Given the description of an element on the screen output the (x, y) to click on. 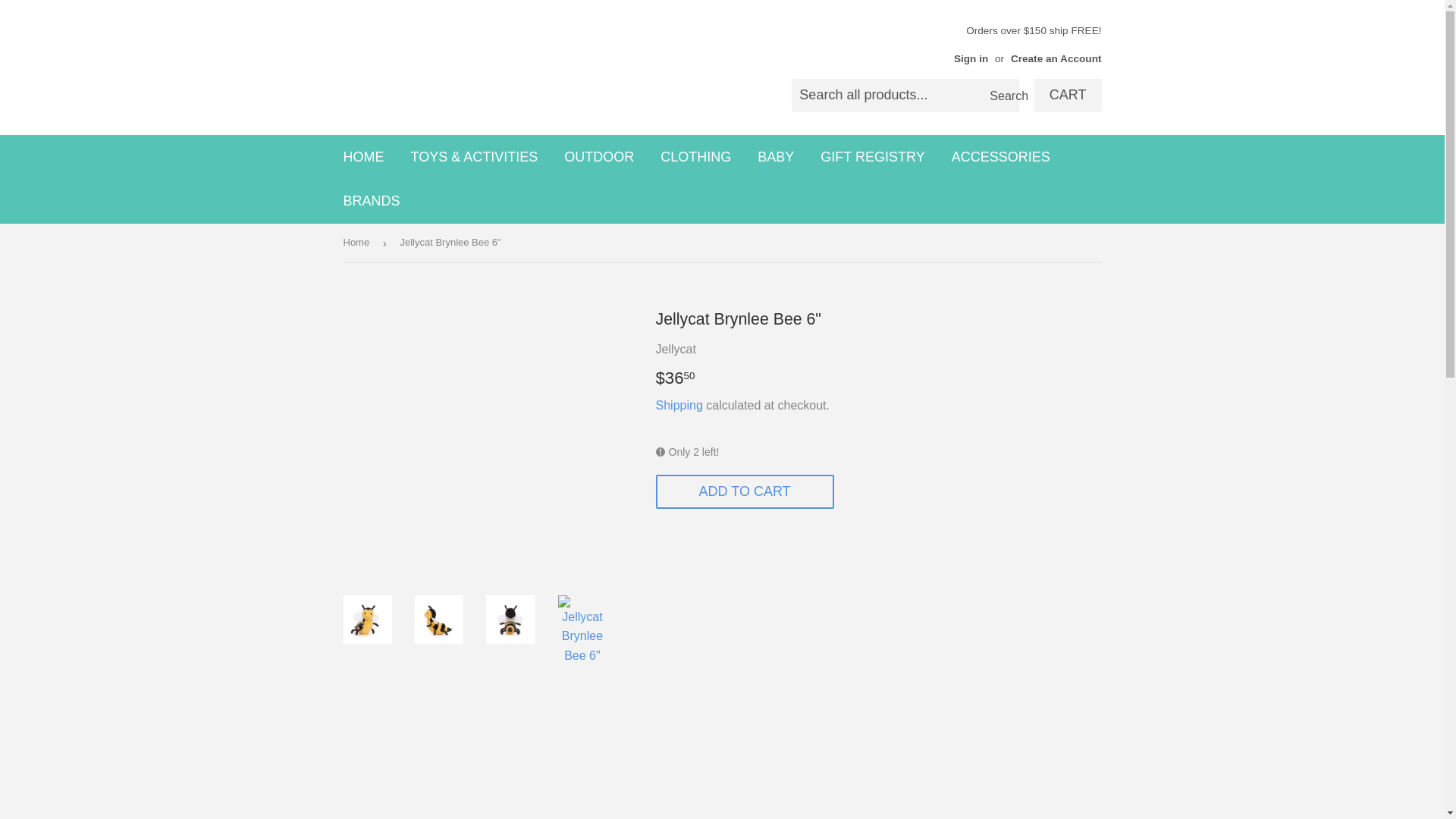
Search (1002, 96)
Back to the frontpage (358, 242)
Create an Account (1056, 58)
CART (1067, 95)
Sign in (970, 58)
